Given the description of an element on the screen output the (x, y) to click on. 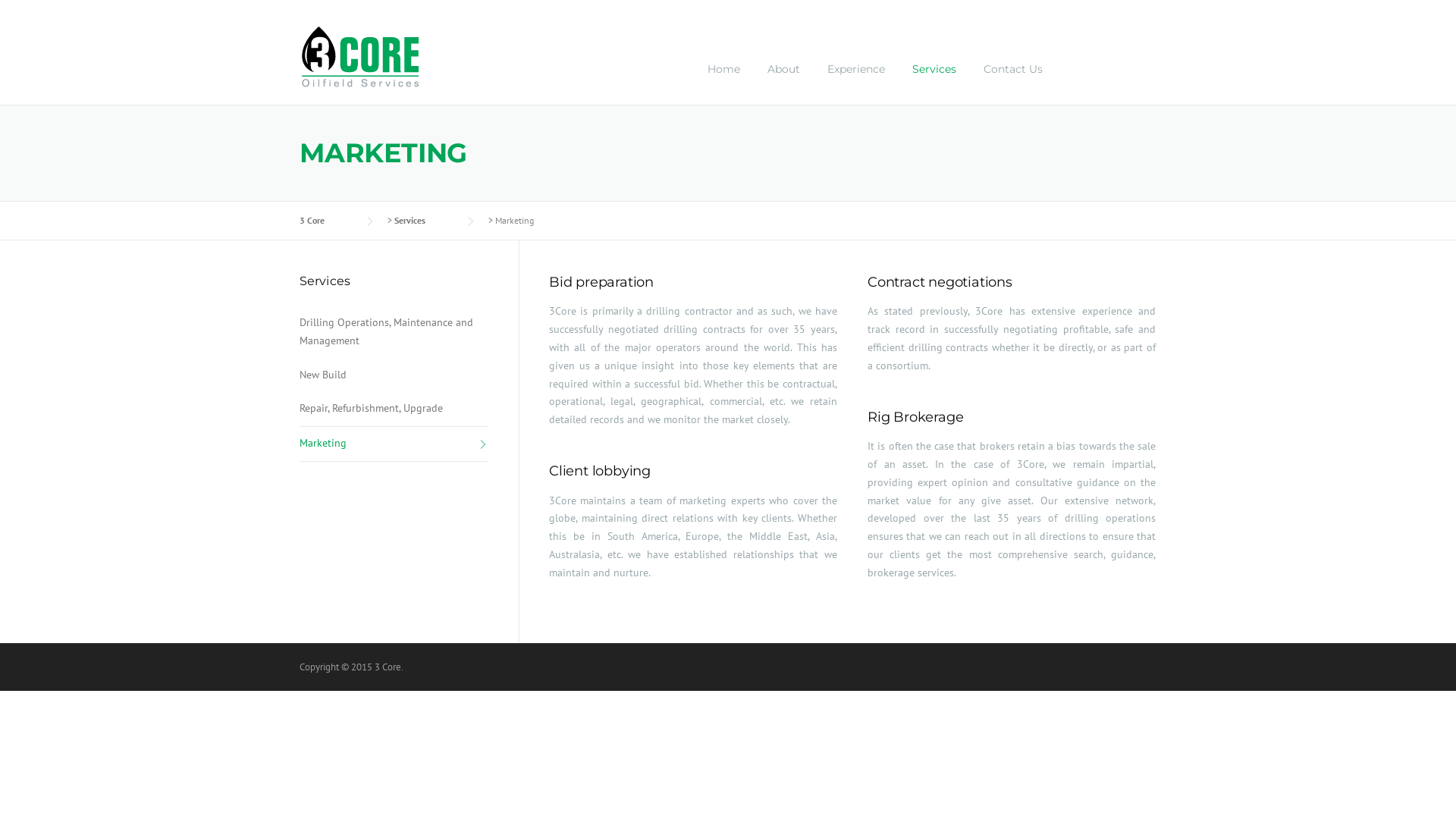
3 Core Element type: hover (359, 55)
Repair, Refurbishment, Upgrade Element type: text (394, 409)
Home Element type: text (723, 80)
Contact Us Element type: text (1005, 80)
Experience Element type: text (855, 80)
New Build Element type: text (394, 375)
3 Core Element type: text (326, 219)
About Element type: text (783, 80)
Skip to content Element type: text (35, 9)
Drilling Operations, Maintenance and Management Element type: text (394, 332)
Services Element type: text (933, 80)
Services Element type: text (424, 219)
Marketing Element type: text (394, 443)
